Given the description of an element on the screen output the (x, y) to click on. 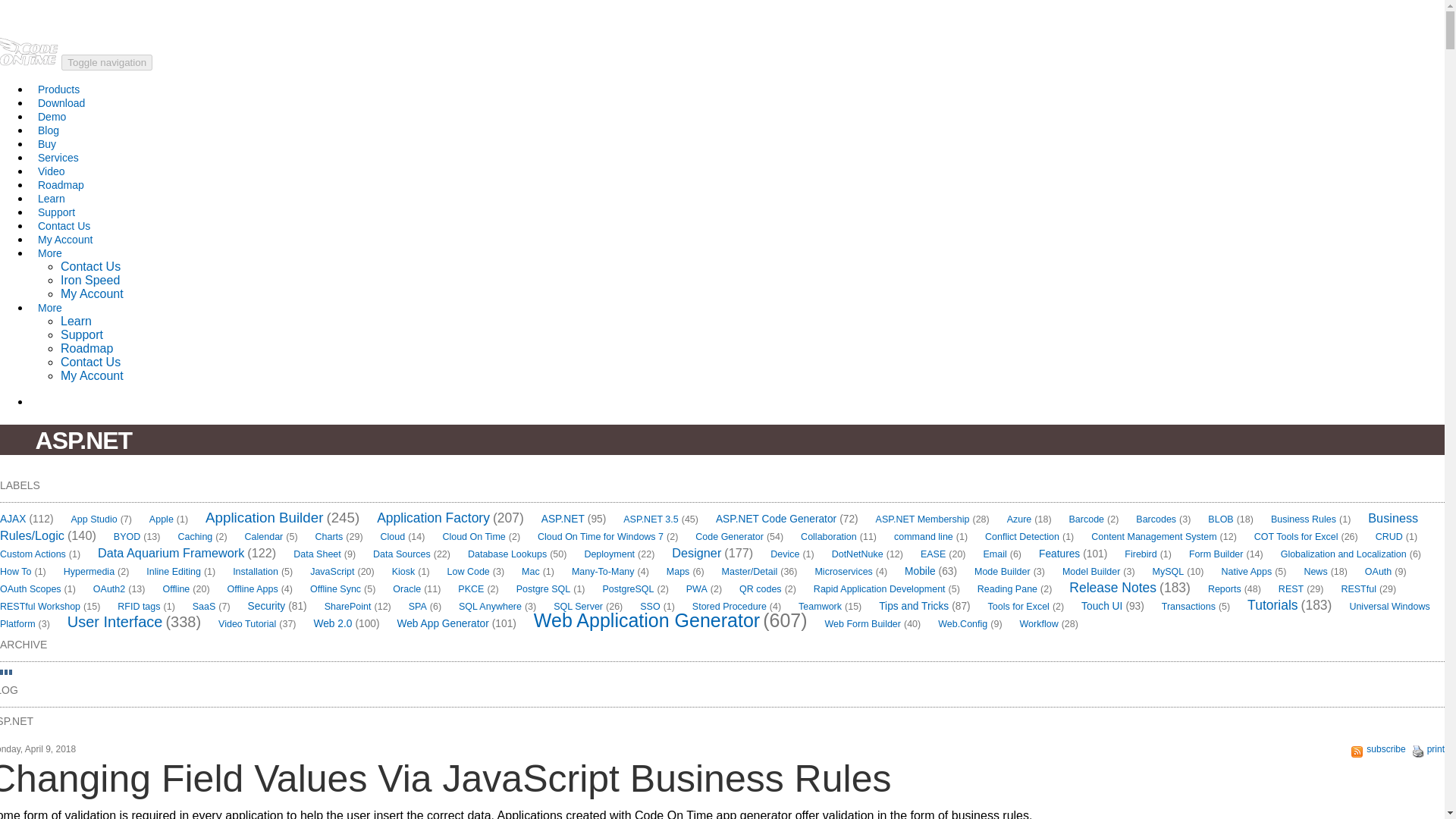
Download (61, 102)
Learn (51, 198)
Products (58, 89)
Demo (52, 116)
Buy (47, 143)
Roadmap (87, 348)
My Account (65, 239)
Services (57, 157)
Video (51, 171)
Contact Us (90, 266)
Support (56, 212)
More (49, 307)
My Account (92, 293)
Iron Speed (90, 279)
Contact Us (90, 361)
